Given the description of an element on the screen output the (x, y) to click on. 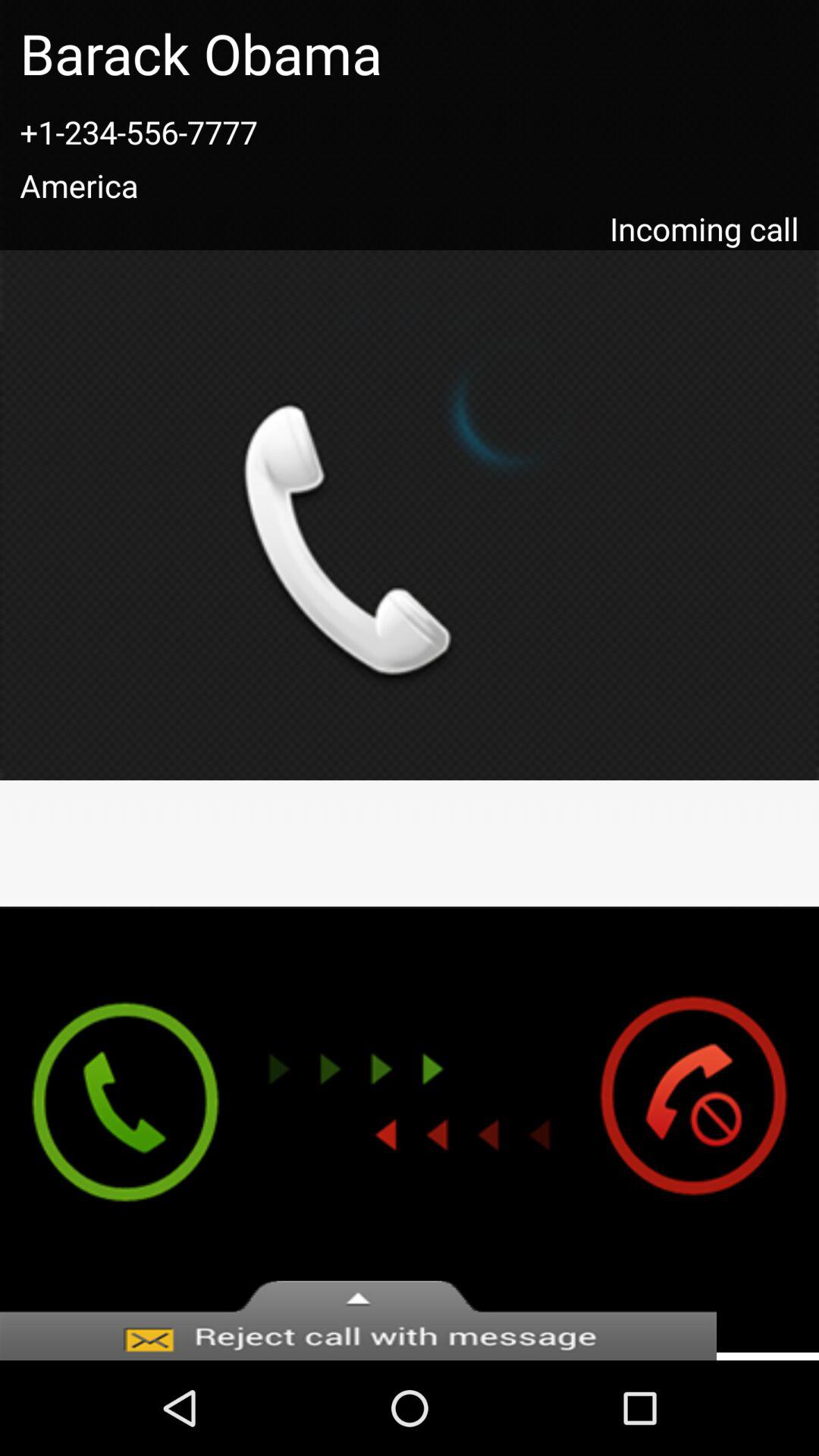
cancel call (707, 1129)
